Given the description of an element on the screen output the (x, y) to click on. 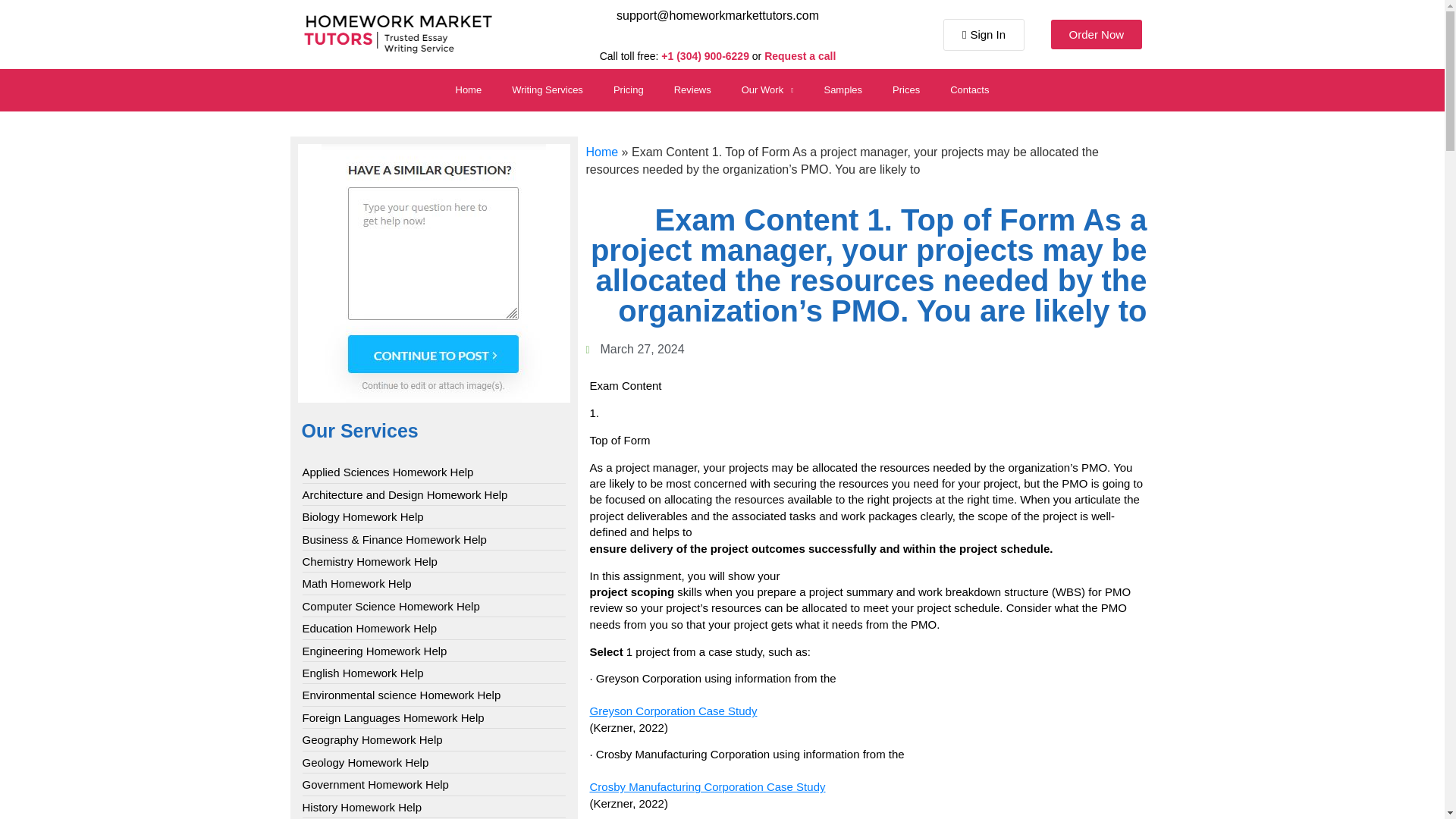
Reviews (692, 89)
Samples (842, 89)
Order Now (1096, 34)
Home (467, 89)
Contacts (969, 89)
Writing Services (547, 89)
Our Work (767, 89)
Sign In (984, 34)
Prices (905, 89)
Pricing (628, 89)
